Given the description of an element on the screen output the (x, y) to click on. 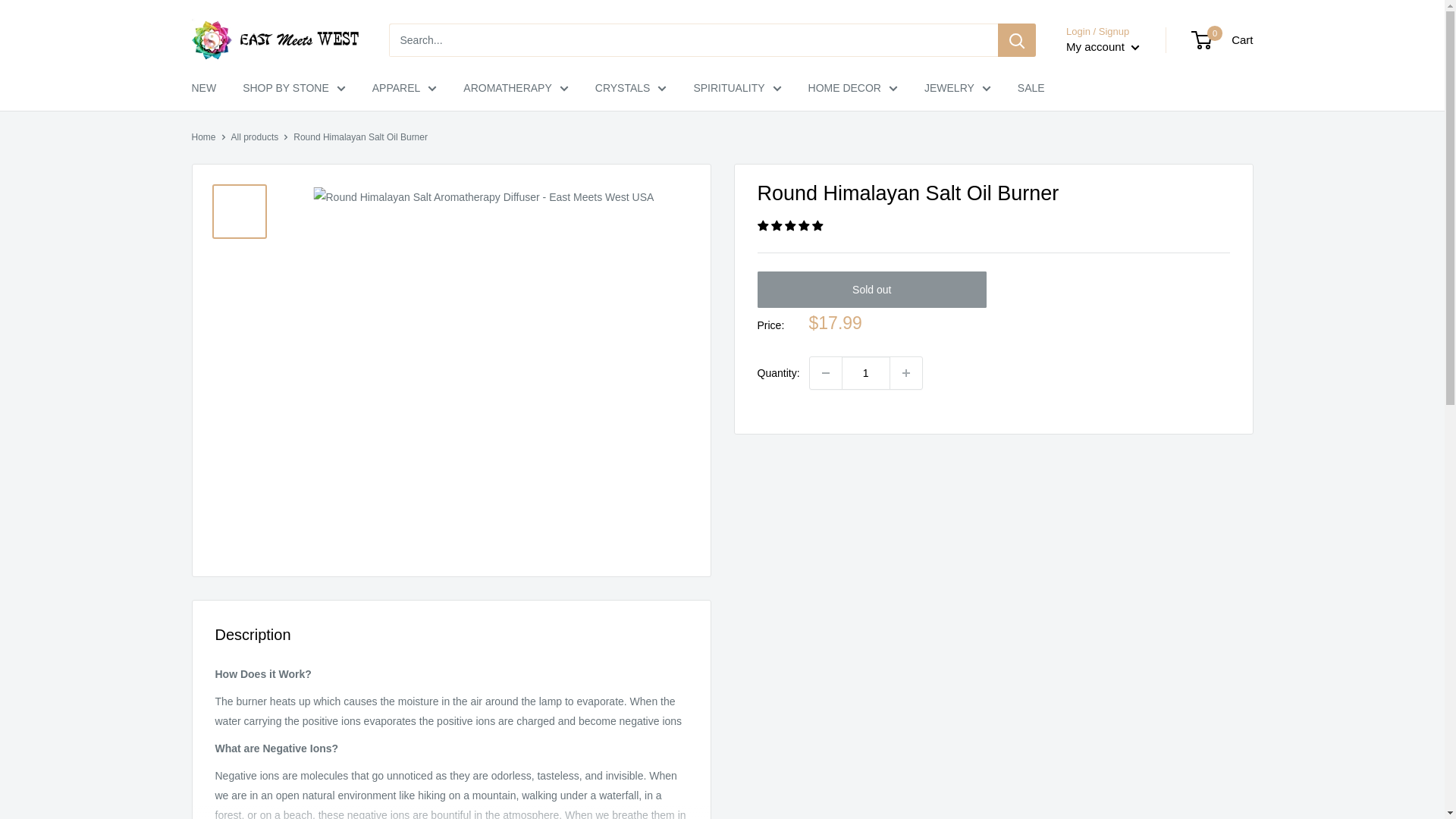
Increase quantity by 1 (905, 373)
1 (865, 373)
Decrease quantity by 1 (825, 373)
